Given the description of an element on the screen output the (x, y) to click on. 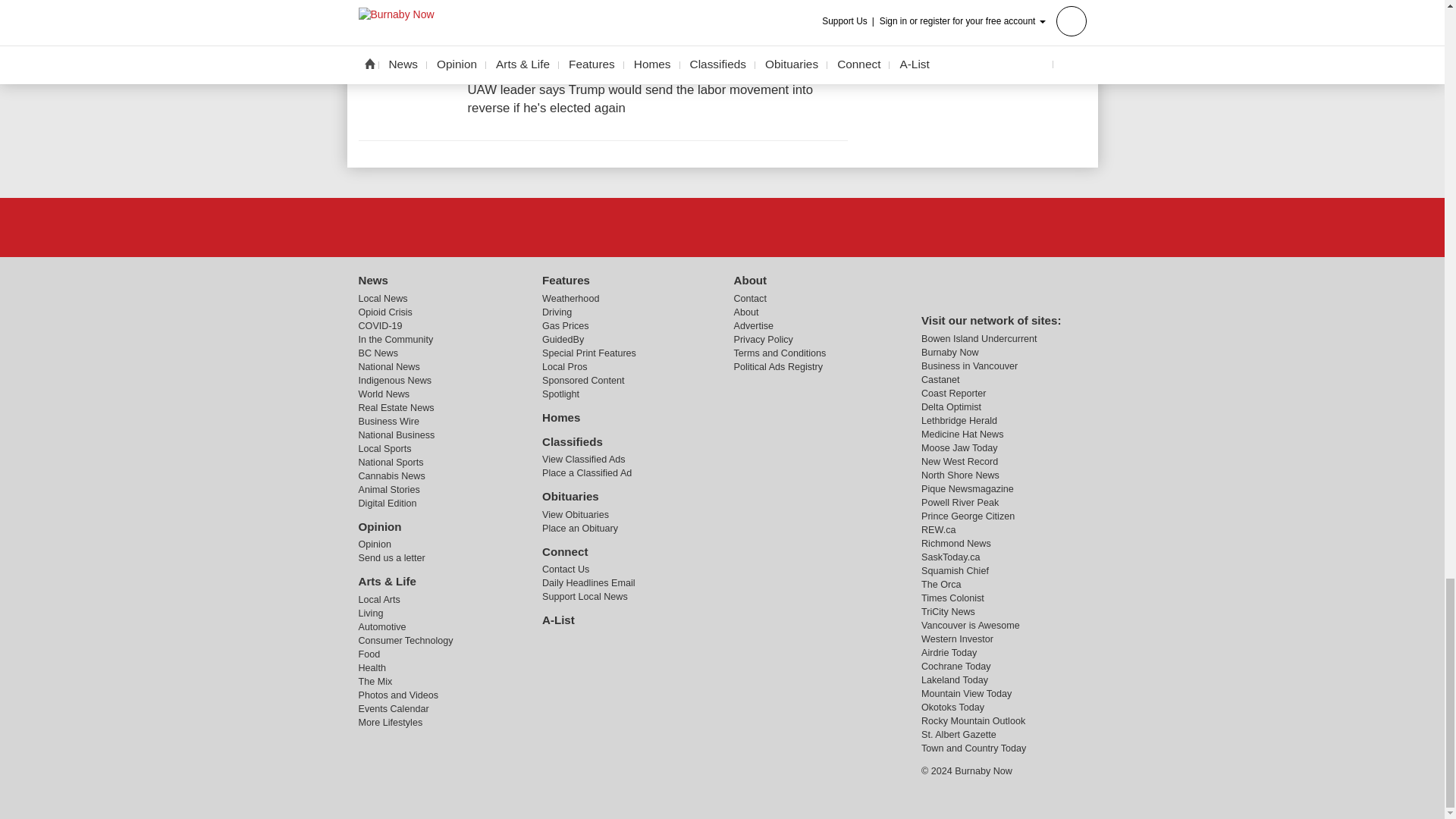
X (721, 226)
Facebook (683, 226)
Instagram (760, 226)
